Given the description of an element on the screen output the (x, y) to click on. 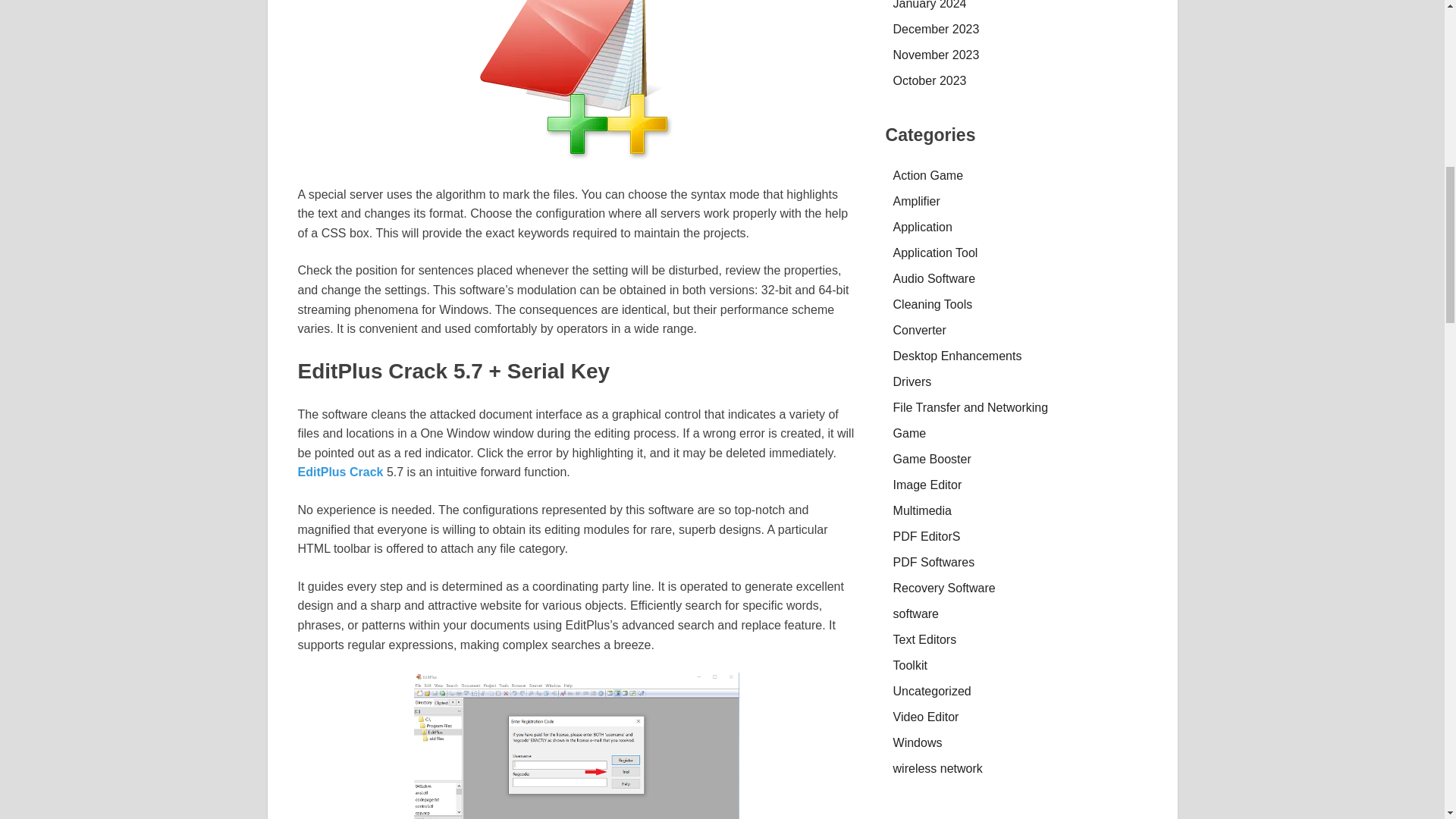
EditPlus Crack (341, 472)
EditPlus Crack (576, 745)
EditPlus Crack (575, 80)
